Given the description of an element on the screen output the (x, y) to click on. 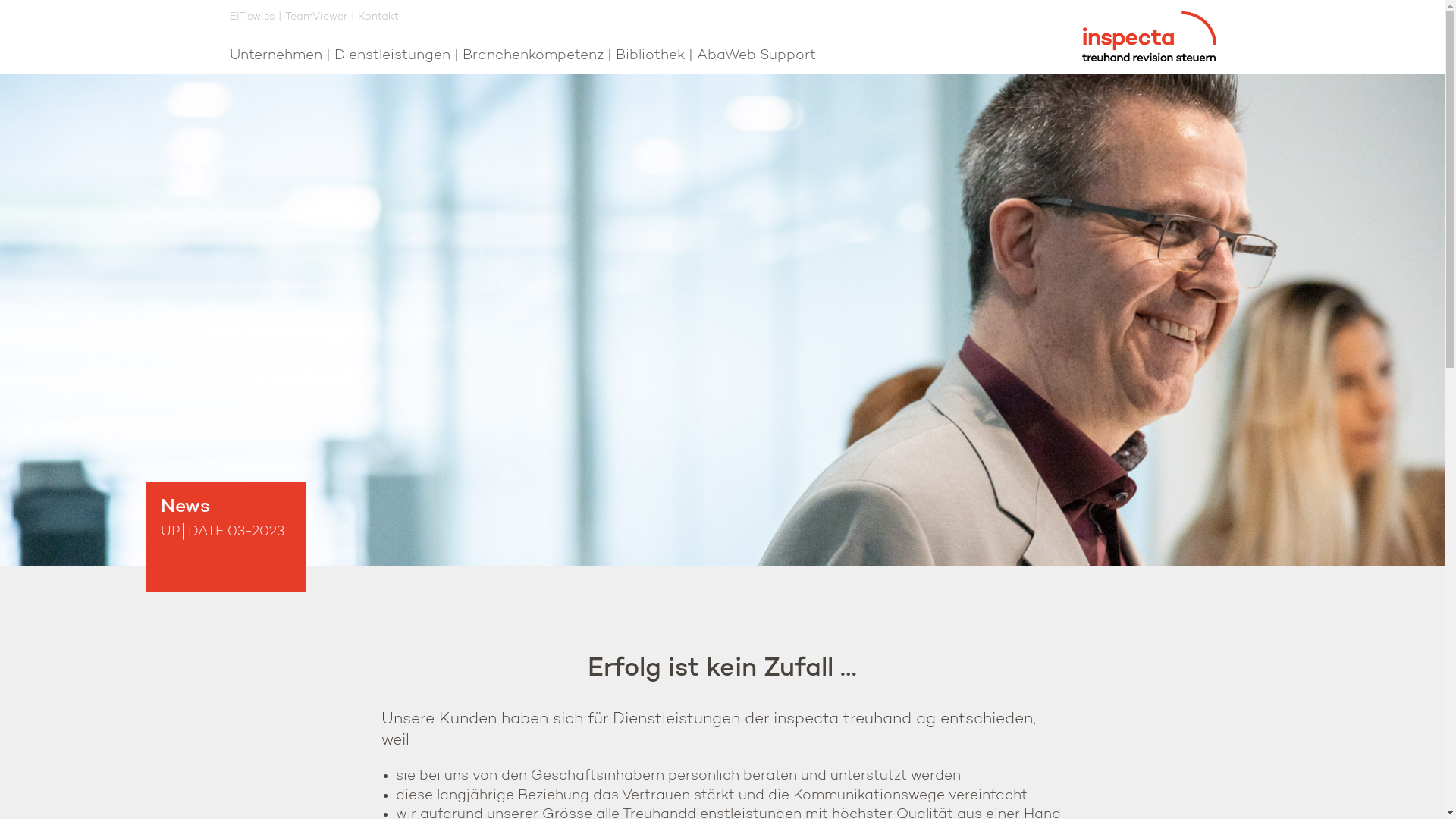
TeamViewer Element type: text (316, 17)
inspecta treuhand ag Element type: hover (1148, 36)
AbaWeb Support Element type: text (755, 55)
EIT.swiss Element type: text (251, 17)
Dienstleistungen Element type: text (391, 55)
Unternehmen Element type: text (275, 55)
Bibliothek Element type: text (649, 55)
Kontakt Element type: text (377, 17)
Branchenkompetenz Element type: text (532, 55)
